Given the description of an element on the screen output the (x, y) to click on. 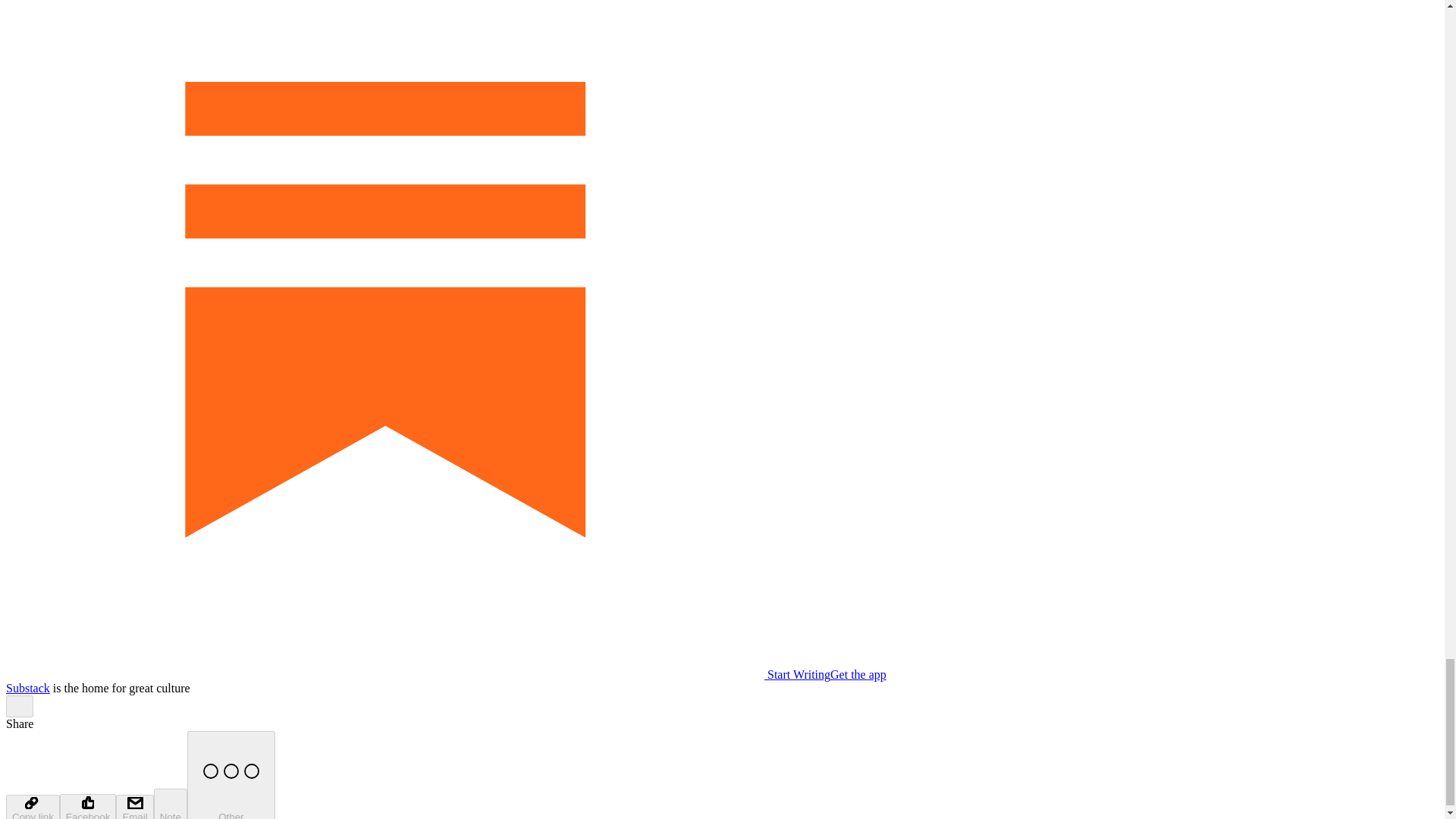
Get the app (857, 674)
Start Writing (417, 674)
Substack (27, 687)
